Given the description of an element on the screen output the (x, y) to click on. 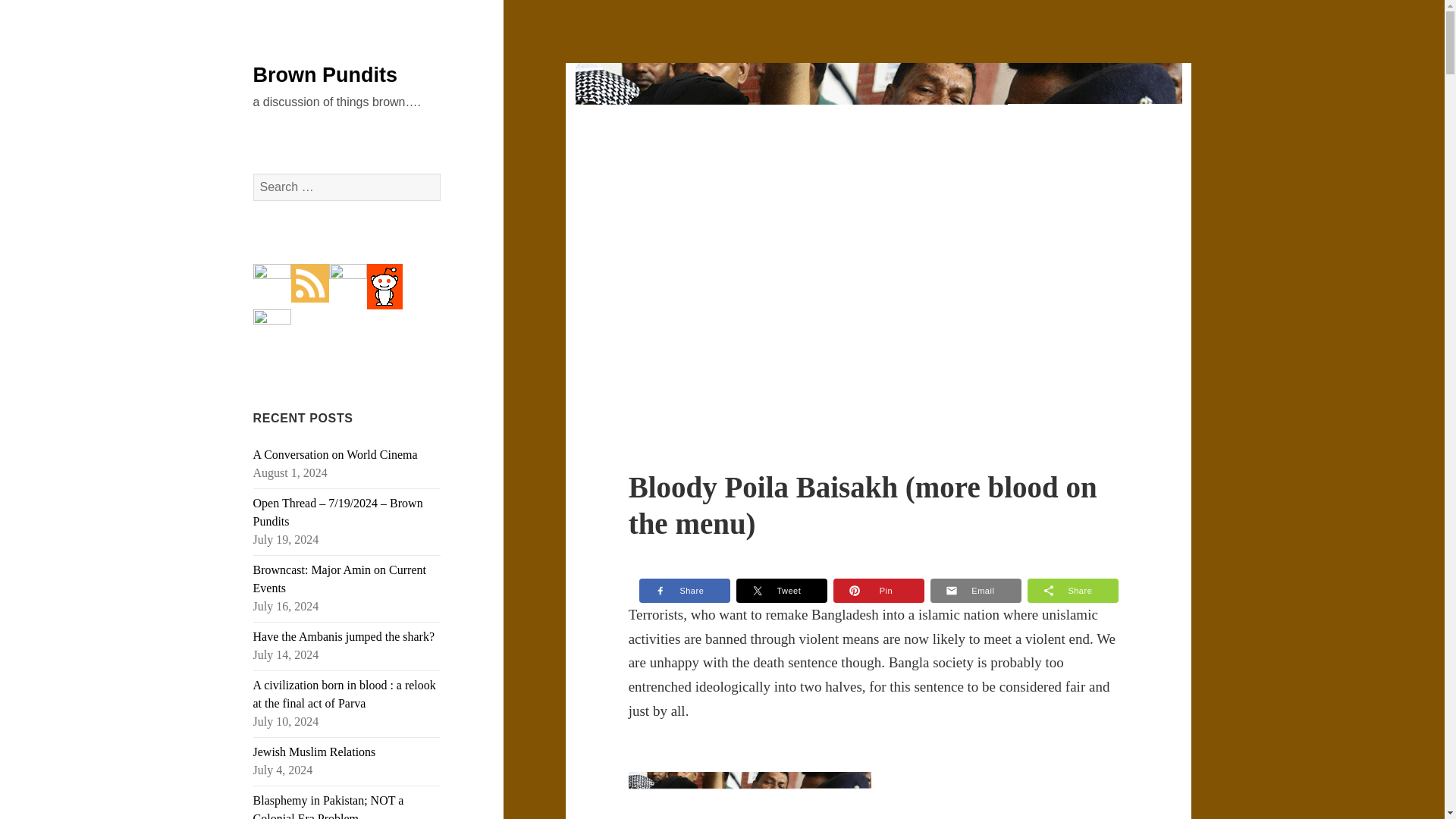
Have the Ambanis jumped the shark? (344, 635)
Browncast: Major Amin on Current Events (339, 578)
Brown Pundits (325, 74)
Jewish Muslim Relations (314, 751)
Blasphemy in Pakistan; NOT a Colonial Era Problem (328, 806)
A Conversation on World Cinema (335, 454)
